Given the description of an element on the screen output the (x, y) to click on. 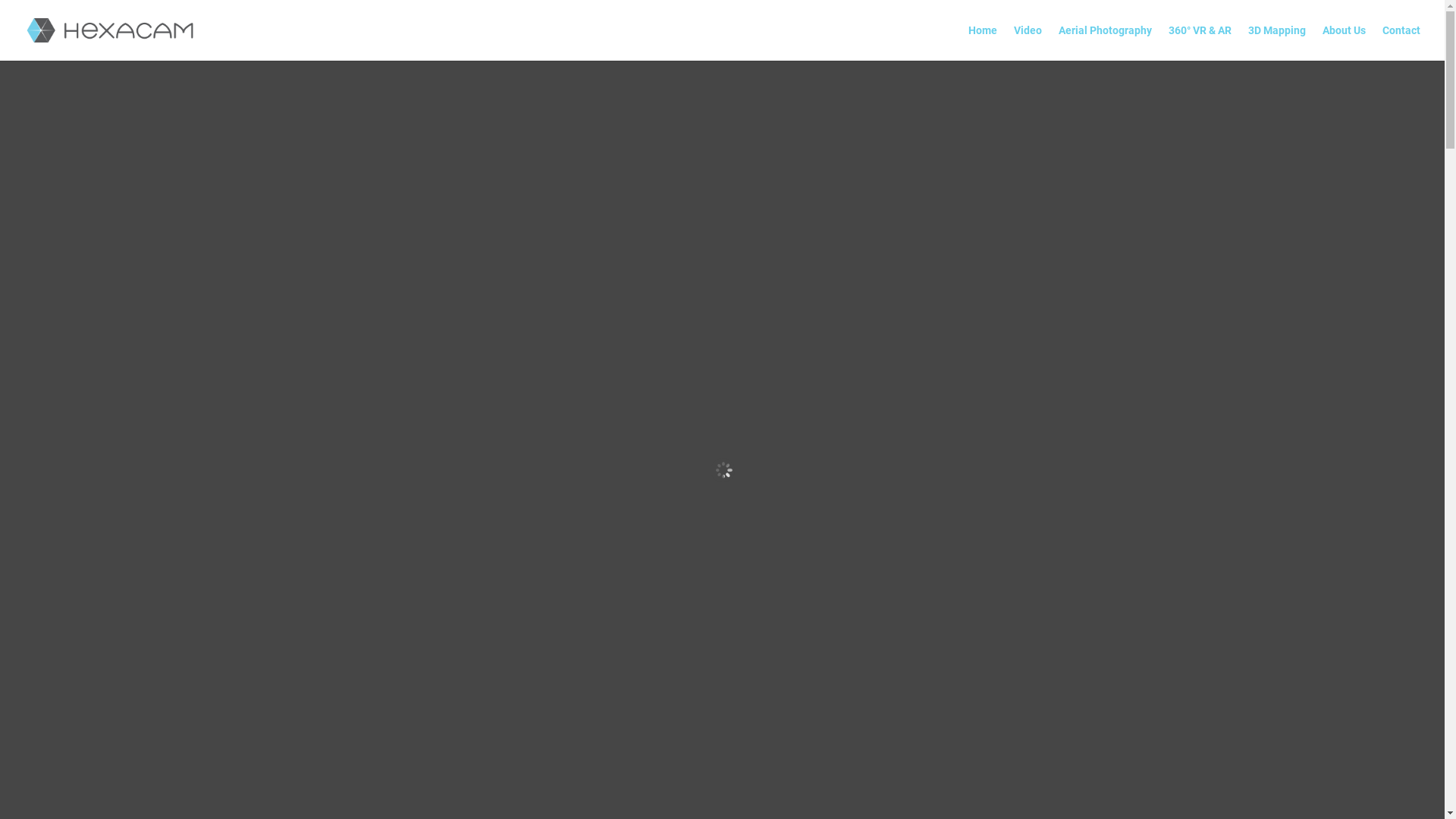
Aerial Photography Element type: text (1104, 42)
Home Element type: text (982, 42)
Video Element type: text (1027, 42)
3D Mapping Element type: text (1276, 42)
Contact Element type: text (1401, 42)
About Us Element type: text (1343, 42)
